Given the description of an element on the screen output the (x, y) to click on. 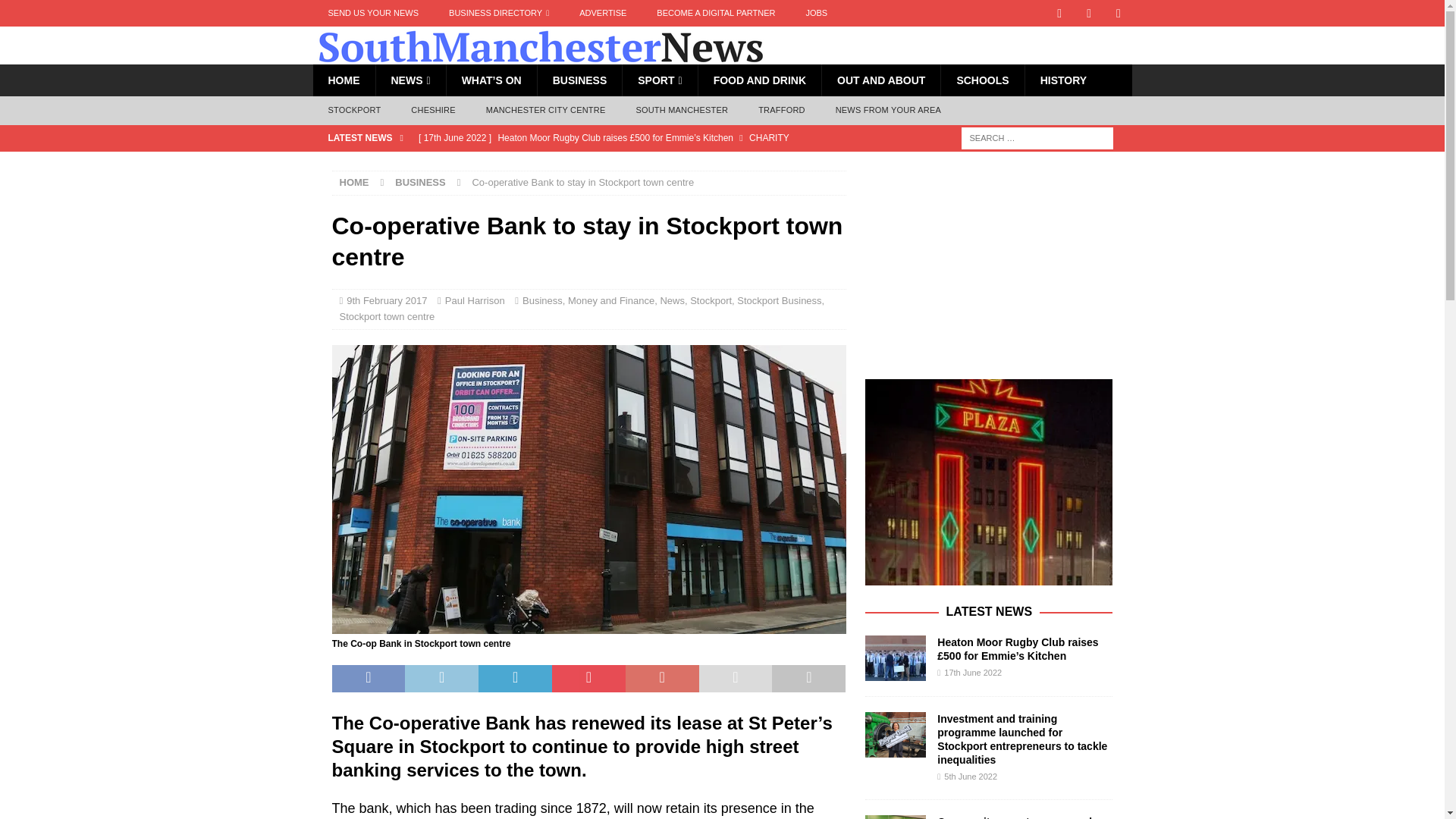
BUSINESS DIRECTORY (498, 13)
South Manchester News (540, 55)
ADVERTISE (603, 13)
BECOME A DIGITAL PARTNER (716, 13)
SEND US YOUR NEWS (373, 13)
HOME (343, 80)
JOBS (816, 13)
